Given the description of an element on the screen output the (x, y) to click on. 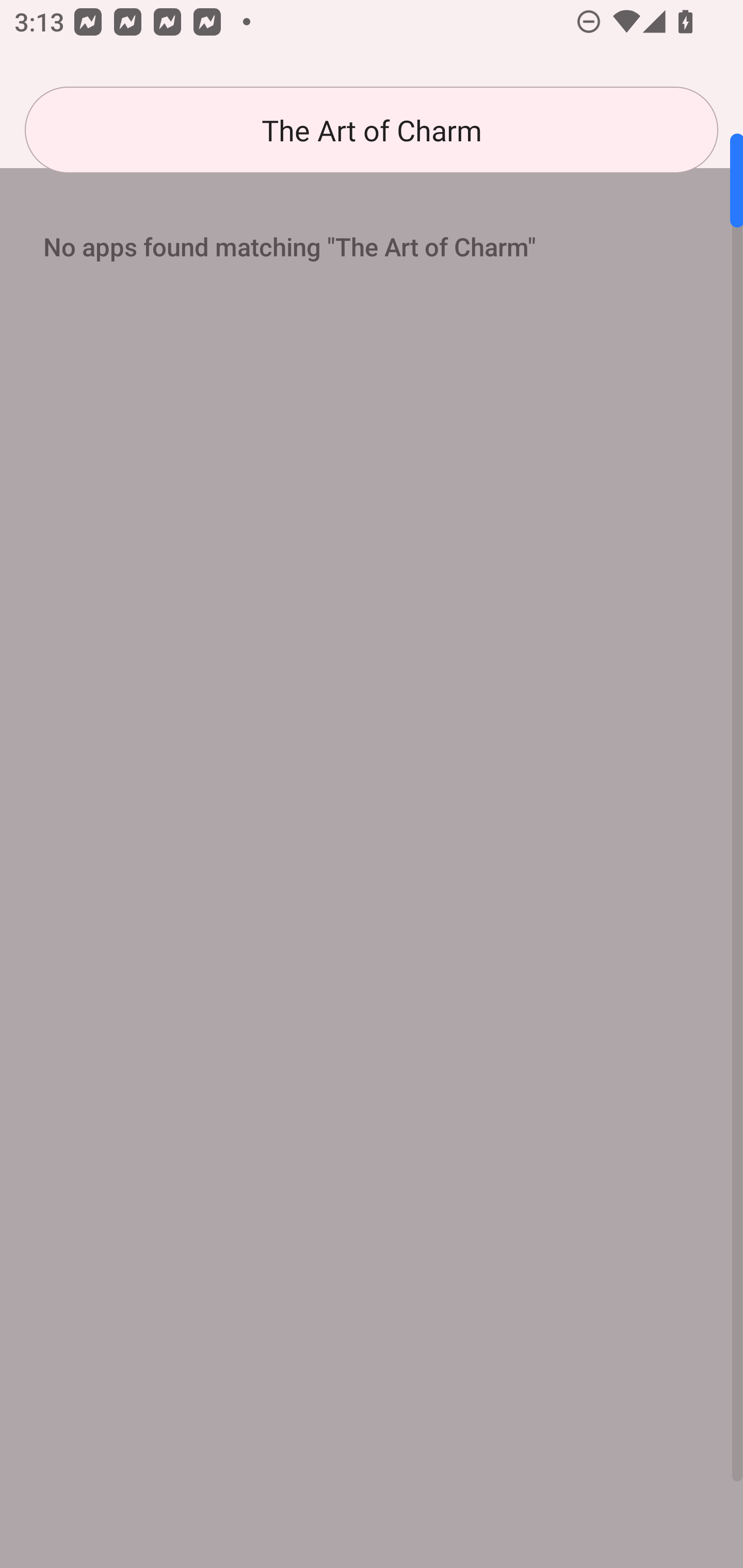
The Art of Charm (371, 130)
